Given the description of an element on the screen output the (x, y) to click on. 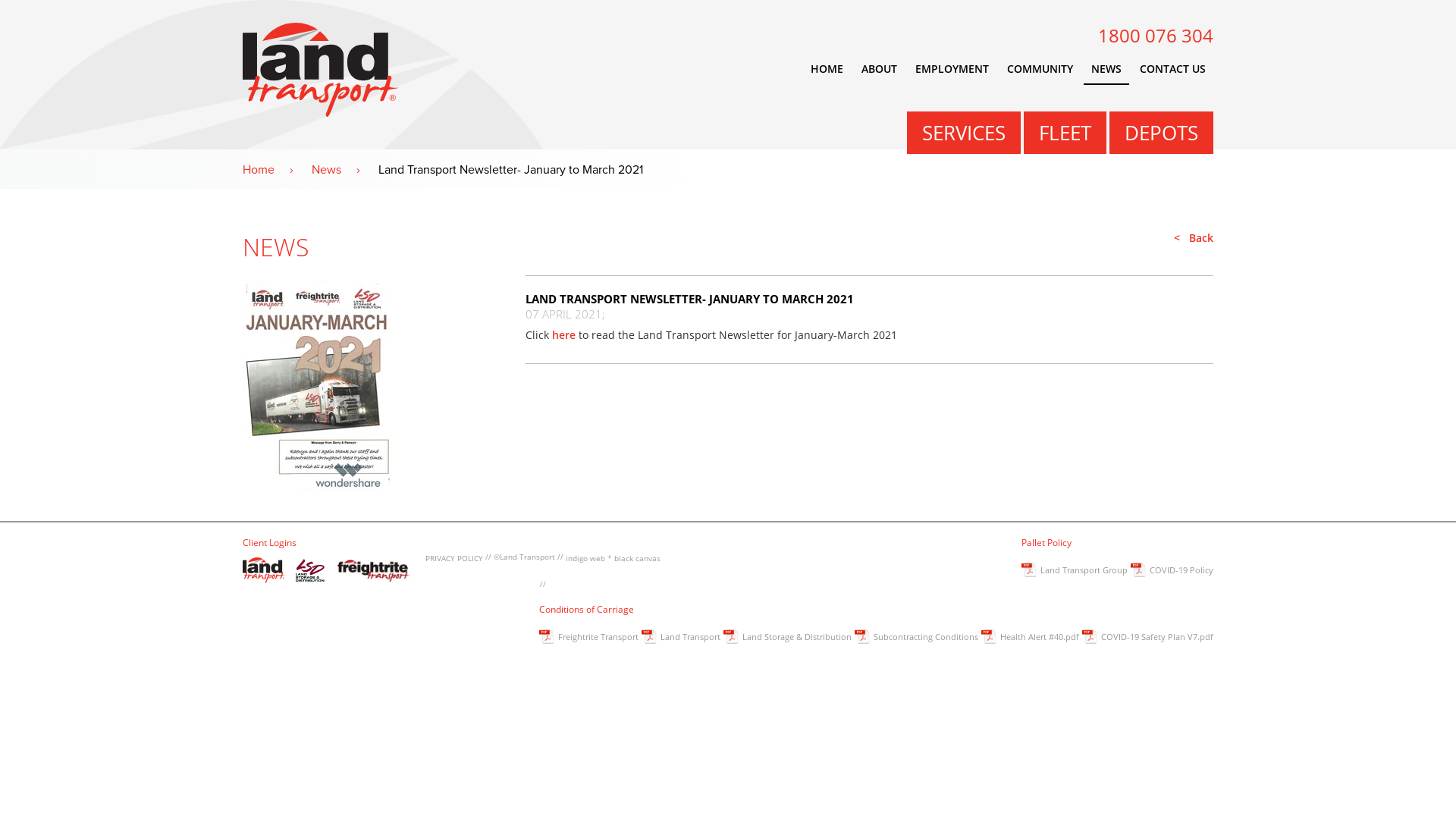
Freightrite Transport Element type: text (588, 638)
Health Alert #40.pdf Element type: text (1030, 638)
Land Transport Group Element type: text (1074, 571)
News Element type: text (343, 169)
Land Storage & Distribution Element type: text (787, 638)
Land Transport Newsletter- January to March 2021 Element type: text (525, 169)
CONTACT US Element type: text (1172, 68)
NEWS Element type: text (1106, 68)
DEPOTS Element type: text (1161, 132)
COMMUNITY Element type: text (1039, 68)
FLEET Element type: text (1064, 132)
here Element type: text (563, 334)
COVID-19 Policy Element type: text (1171, 571)
SERVICES Element type: text (963, 132)
Subcontracting Conditions Element type: text (916, 638)
<   Back Element type: text (869, 237)
COVID-19 Safety Plan V7.pdf Element type: text (1147, 638)
Land Transport Element type: text (680, 638)
ABOUT Element type: text (878, 68)
black canvas Element type: text (637, 558)
Home Element type: text (275, 169)
EMPLOYMENT Element type: text (951, 68)
PRIVACY POLICY Element type: text (454, 558)
indigo web Element type: text (585, 558)
HOME Element type: text (826, 68)
